Given the description of an element on the screen output the (x, y) to click on. 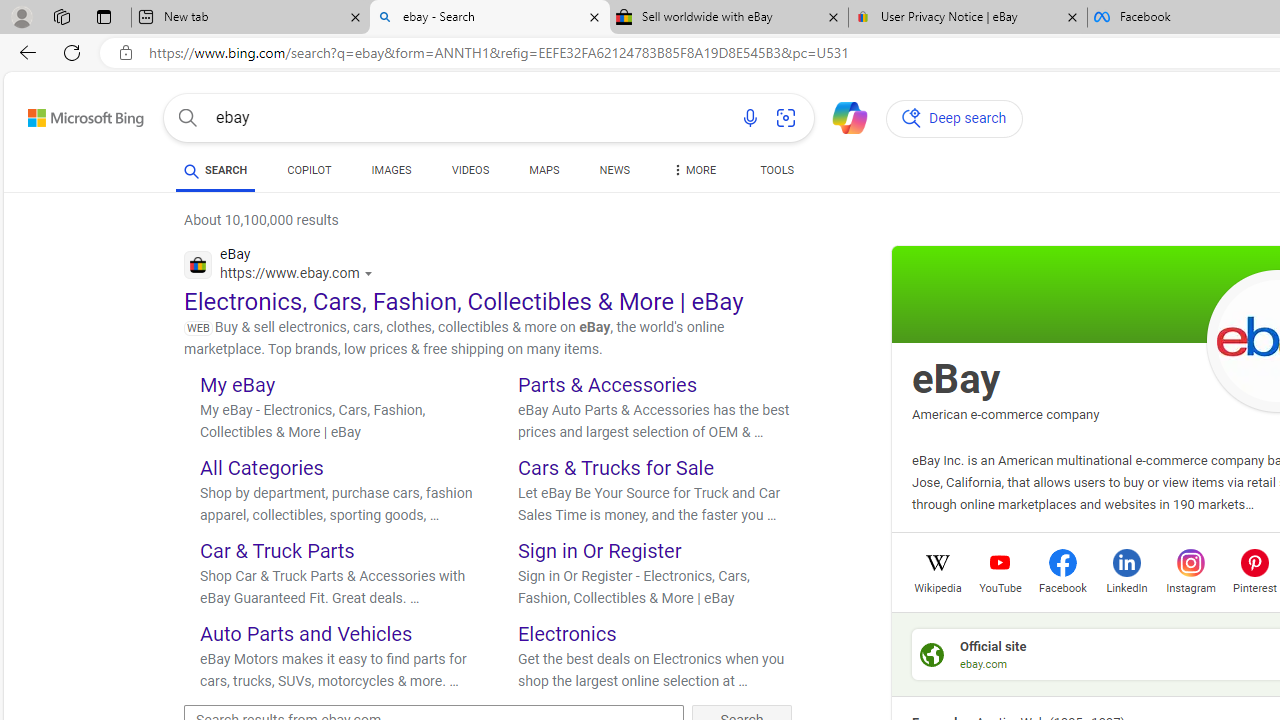
Instagram (1190, 586)
Search using an image (785, 117)
Electronics, Cars, Fashion, Collectibles & More | eBay (463, 301)
MAPS (544, 173)
TOOLS (776, 170)
ebay - Search (490, 17)
Dropdown Menu (692, 170)
User Privacy Notice | eBay (967, 17)
TOOLS (776, 173)
All Categories (261, 467)
Parts & Accessories (607, 384)
Skip to content (64, 111)
